Given the description of an element on the screen output the (x, y) to click on. 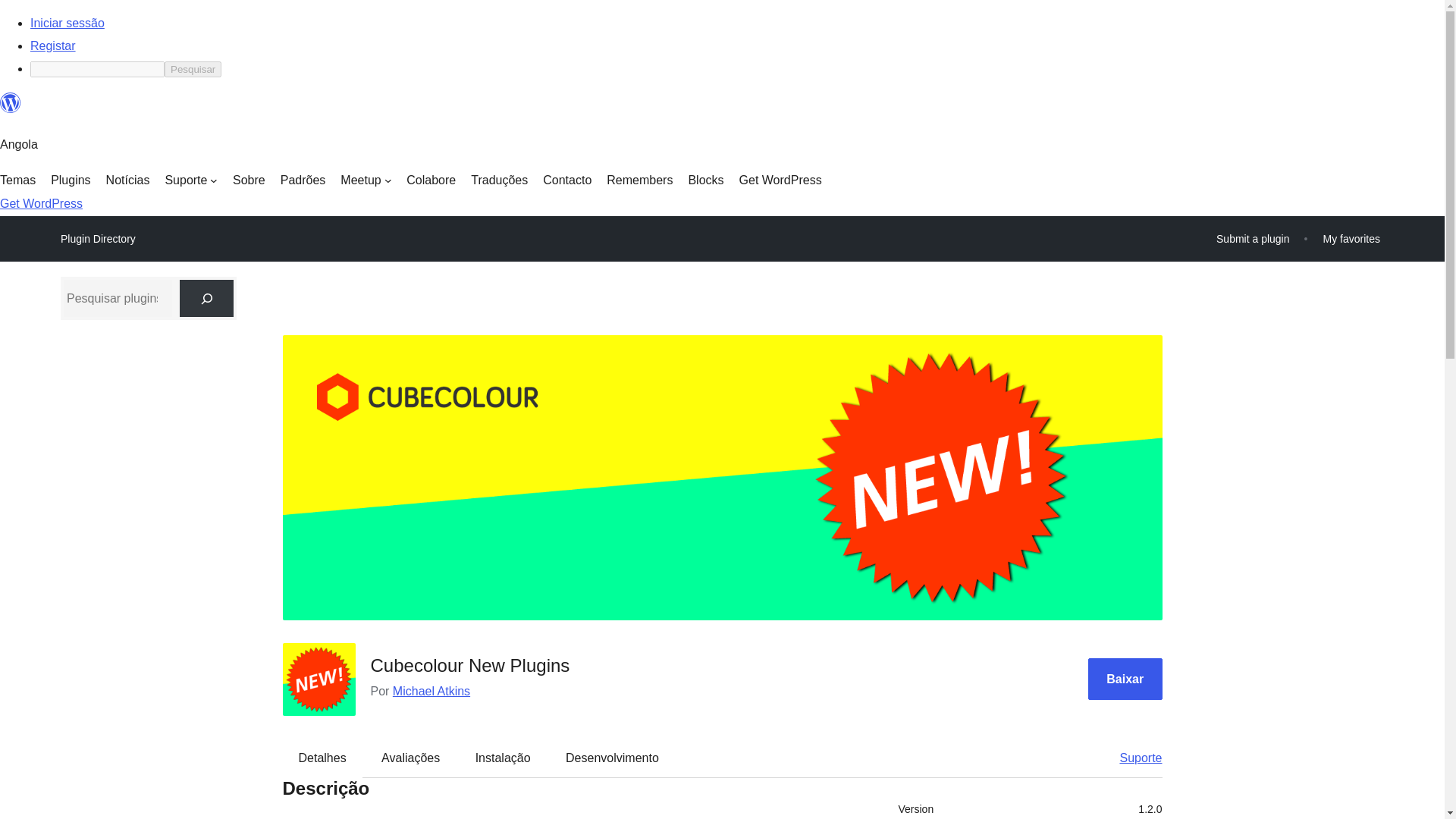
Temas (17, 179)
Detalhes (322, 758)
Baixar (1124, 679)
WordPress.org (10, 109)
Remembers (639, 179)
Suporte (190, 180)
Registar (52, 45)
My favorites (1351, 238)
Plugin Directory (97, 238)
Plugins (70, 179)
Pesquisar (192, 68)
Get WordPress (41, 203)
Sobre (248, 179)
Pesquisar (192, 68)
Colabore (430, 179)
